Given the description of an element on the screen output the (x, y) to click on. 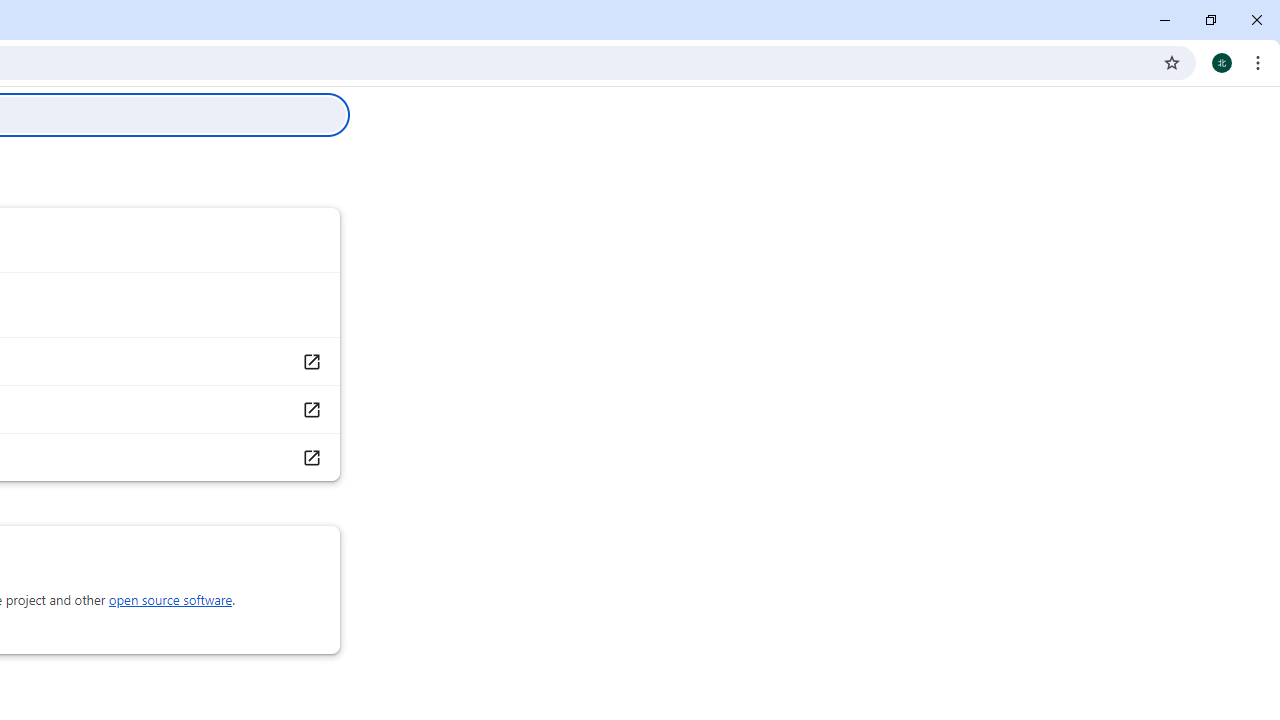
Get help with Chrome (310, 361)
Report an issue (310, 409)
open source software (169, 600)
Privacy policy (310, 456)
